Given the description of an element on the screen output the (x, y) to click on. 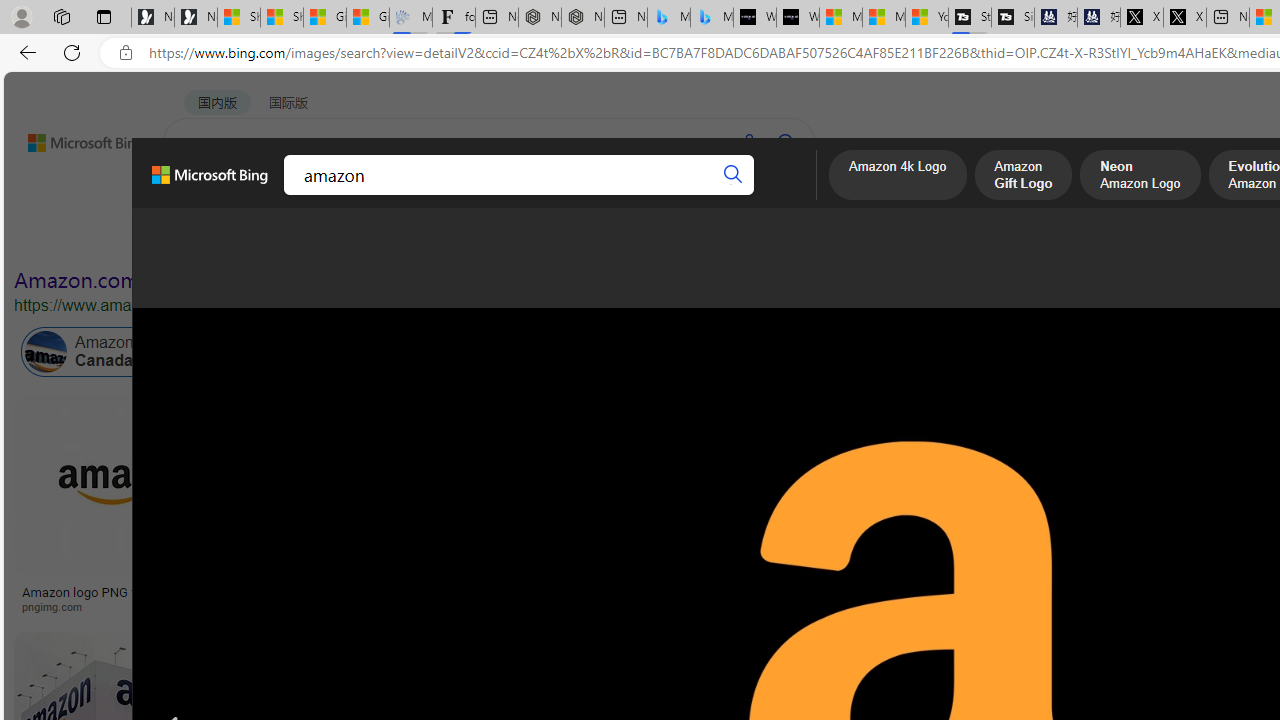
Image result for amazon (903, 485)
usatoday.com (653, 606)
Two Reasons Why Retailers Need to Leverage Amazon (364, 598)
aiophotoz.com (902, 606)
Microsoft Bing Travel - Shangri-La Hotel Bangkok (712, 17)
Kindle Paperwhite Case (1087, 524)
pngimg.com (58, 605)
aiophotoz.com (868, 605)
Image size (222, 237)
Listen: What's next for Amazon?usatoday.comSave (656, 508)
Alexa Smart Home Devices (1087, 584)
Date (591, 237)
